Given the description of an element on the screen output the (x, y) to click on. 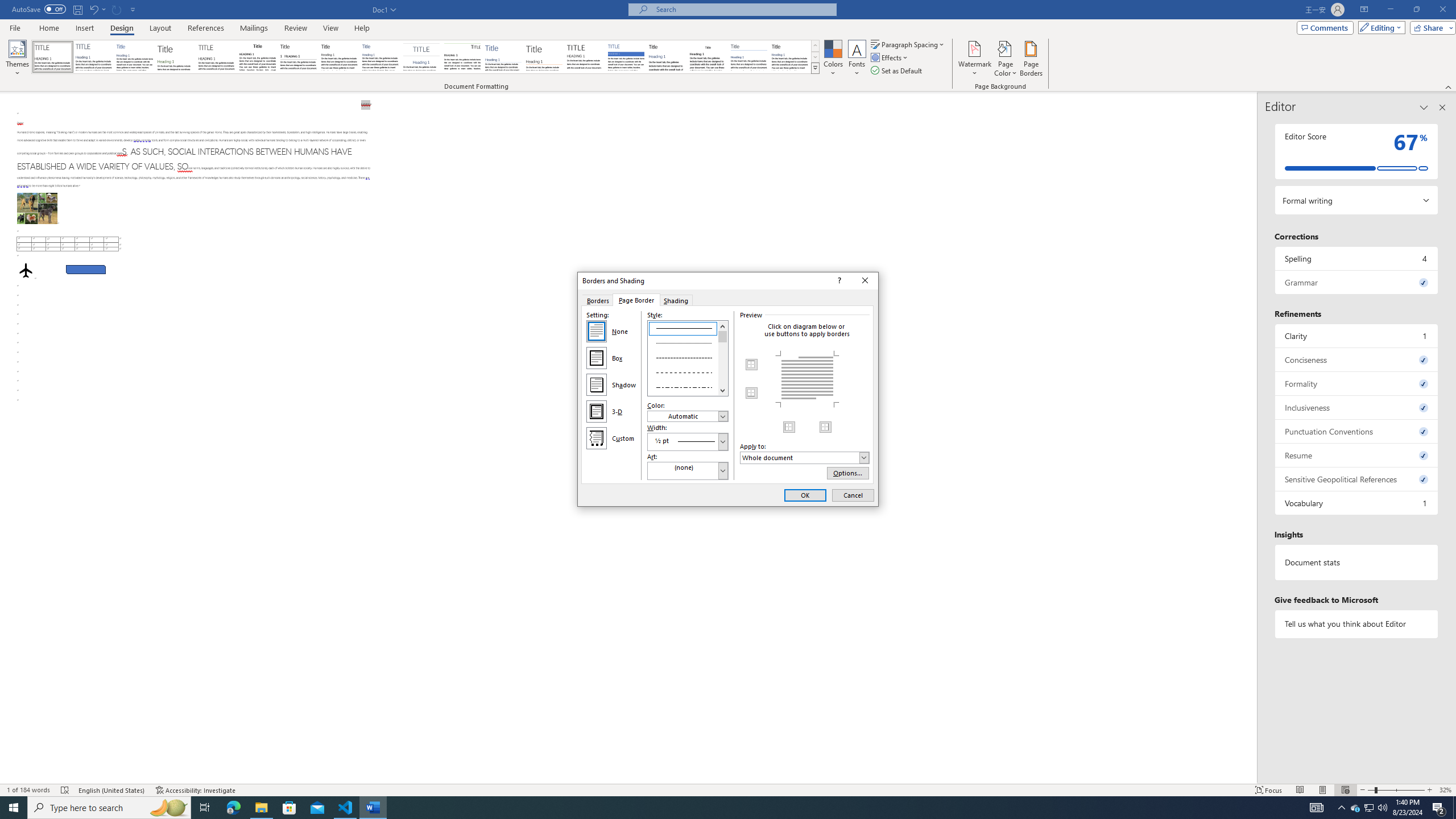
Can't Repeat (117, 9)
Microsoft Edge (233, 807)
Style Set (814, 67)
Word (666, 56)
Type here to search (108, 807)
Vocabulary, 1 issue. Press space or enter to review items. (1356, 502)
Word Count 1 of 184 words (28, 790)
Basic (Elegant) (93, 56)
Word 2013 (790, 56)
Line down (722, 390)
Cancel (853, 495)
